Given the description of an element on the screen output the (x, y) to click on. 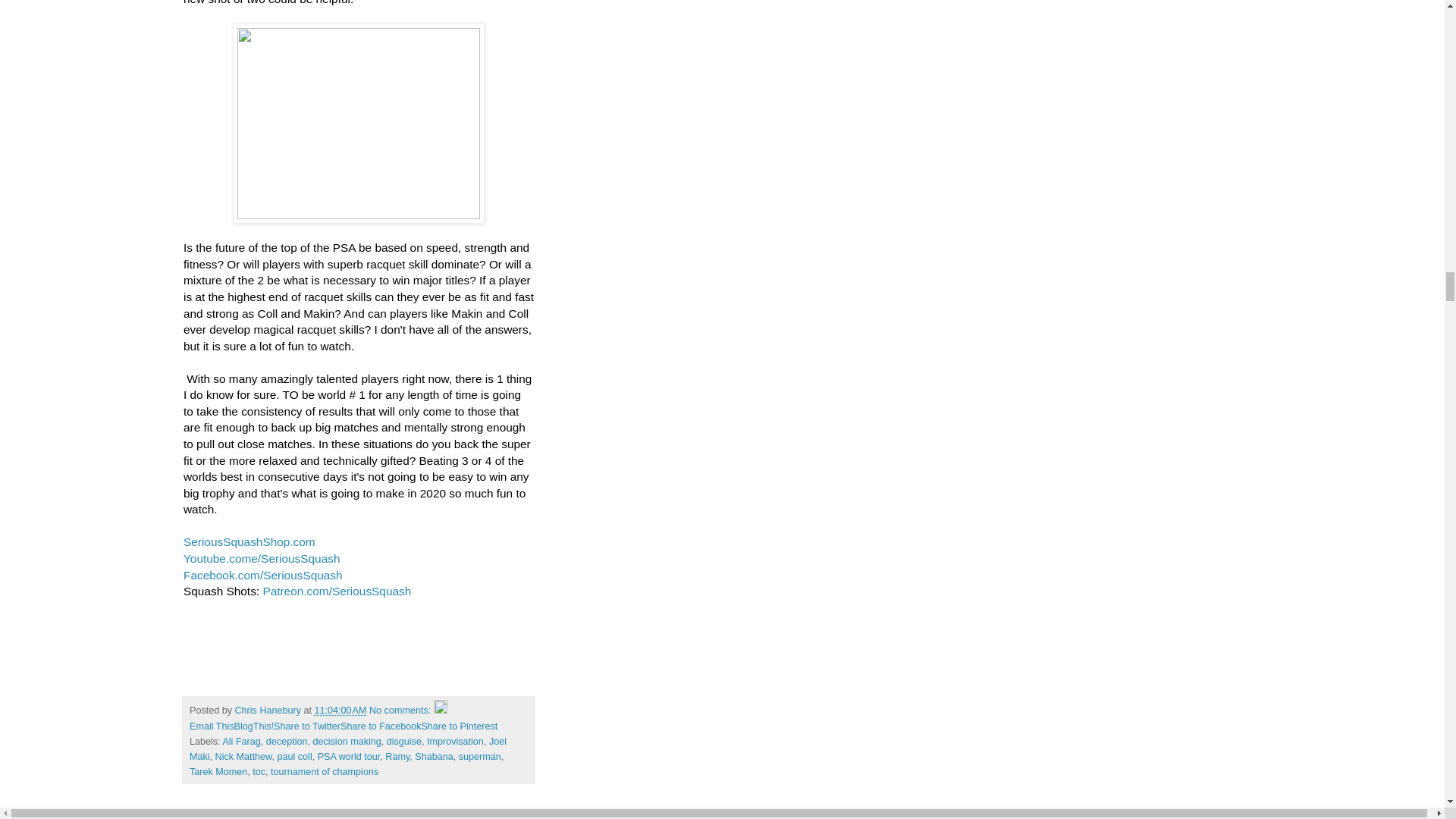
permanent link (340, 710)
Email This (211, 726)
author profile (269, 710)
Edit Post (439, 710)
